Given the description of an element on the screen output the (x, y) to click on. 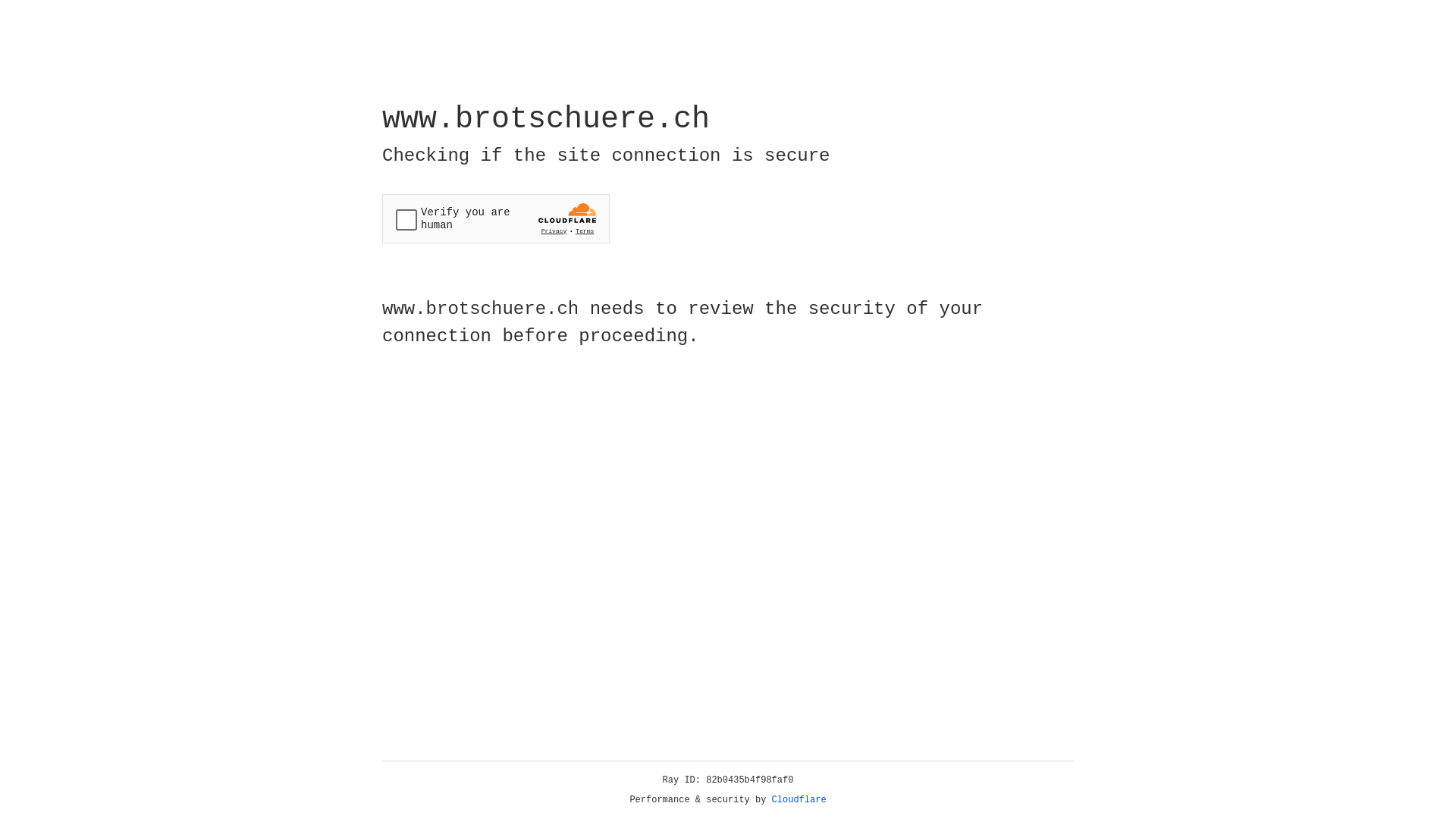
Widget containing a Cloudflare security challenge Element type: hover (495, 218)
Cloudflare Element type: text (798, 799)
